Given the description of an element on the screen output the (x, y) to click on. 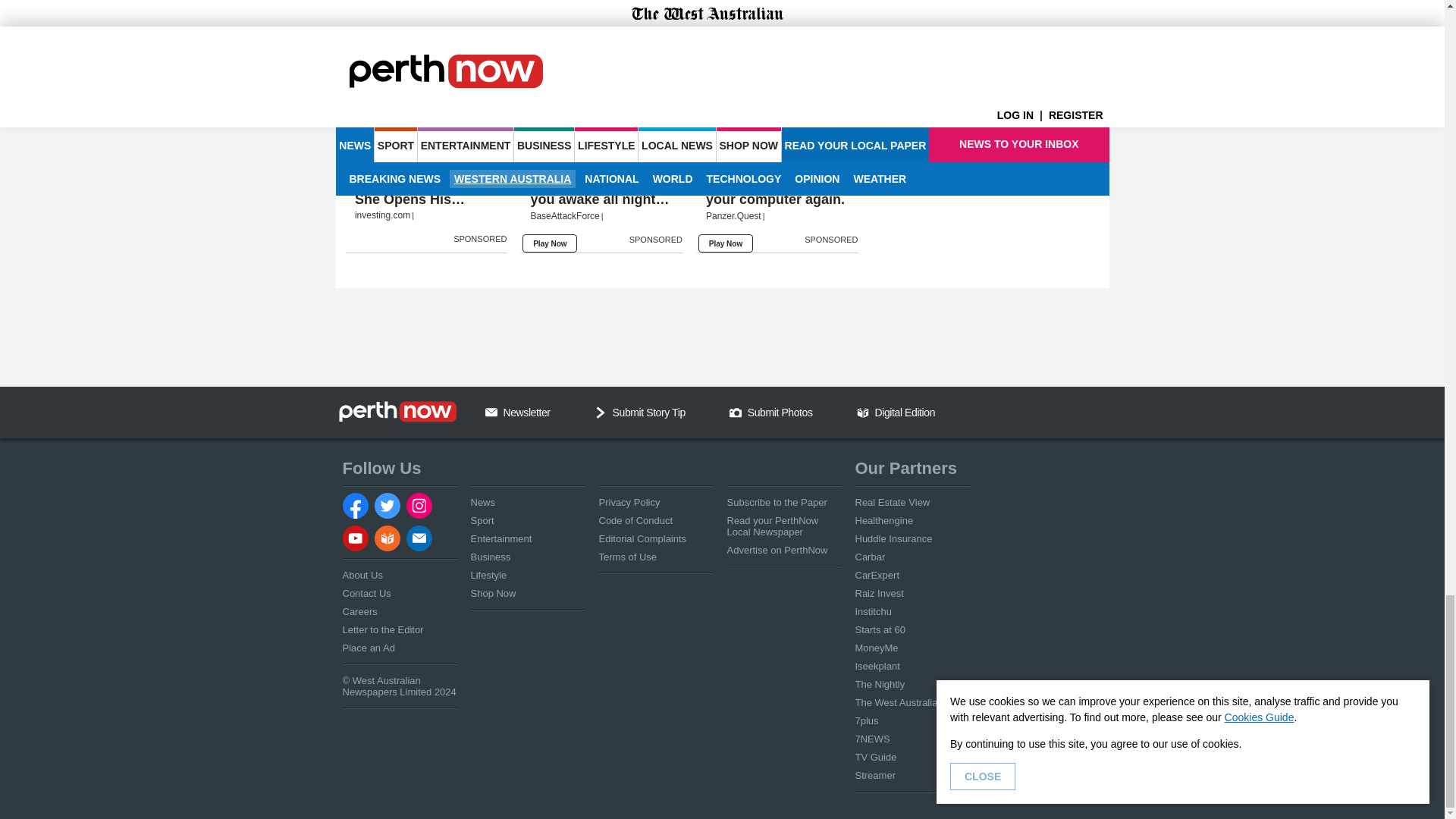
Camera Icon (735, 412)
Chevron Down Icon (600, 412)
Email Us (490, 412)
